Given the description of an element on the screen output the (x, y) to click on. 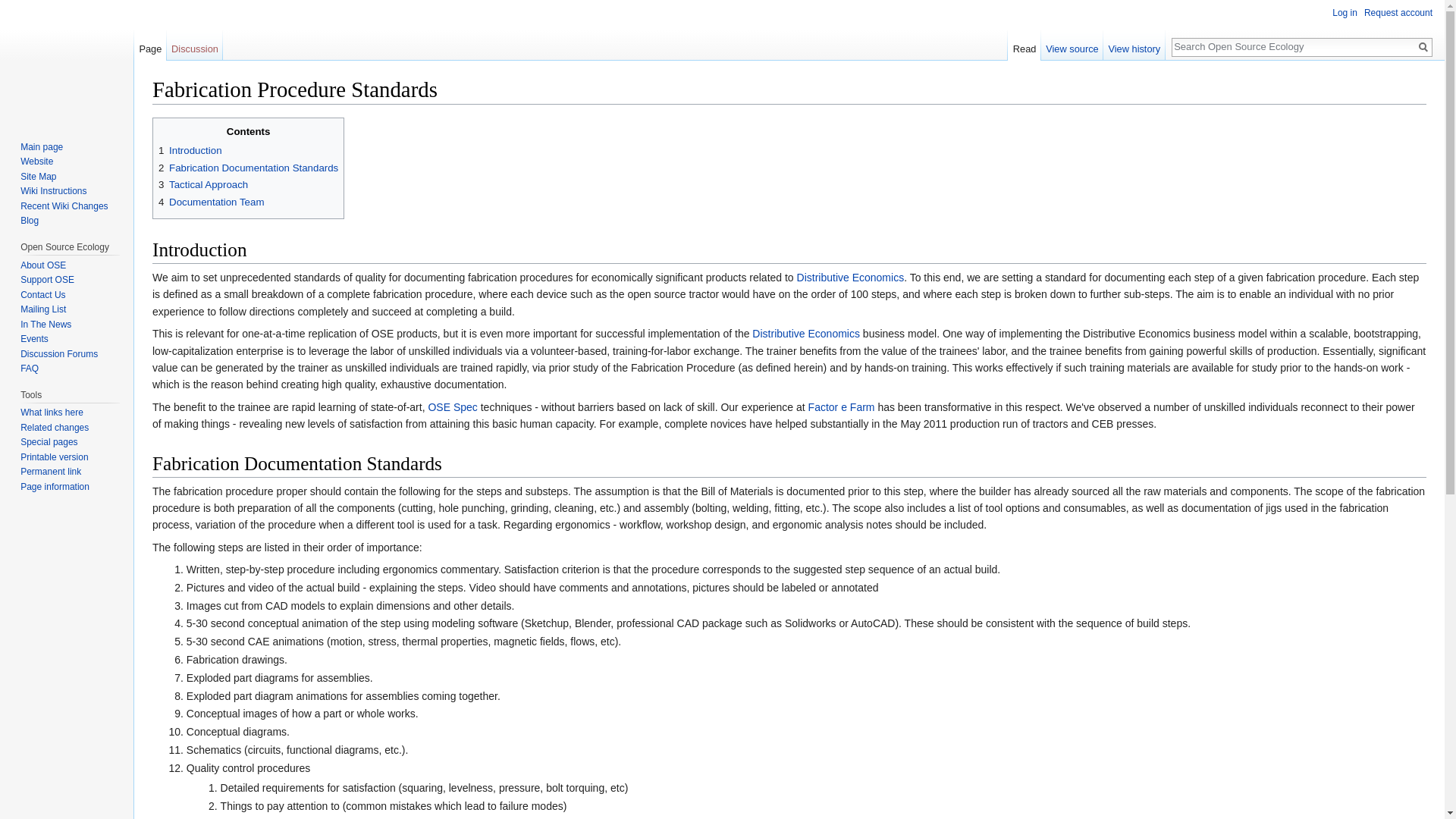
In The News (45, 324)
Discussion Forums (58, 353)
View history (1134, 45)
Recent Wiki Changes (63, 205)
Log in (1344, 12)
Go (1423, 46)
Website (36, 161)
Factor e Farm (841, 407)
4 Documentation Team (210, 202)
Search the pages for this text (1423, 46)
OSE Spec (452, 407)
Visit the main page (66, 60)
2 Fabrication Documentation Standards (247, 167)
What links here (51, 412)
Search (1423, 46)
